Given the description of an element on the screen output the (x, y) to click on. 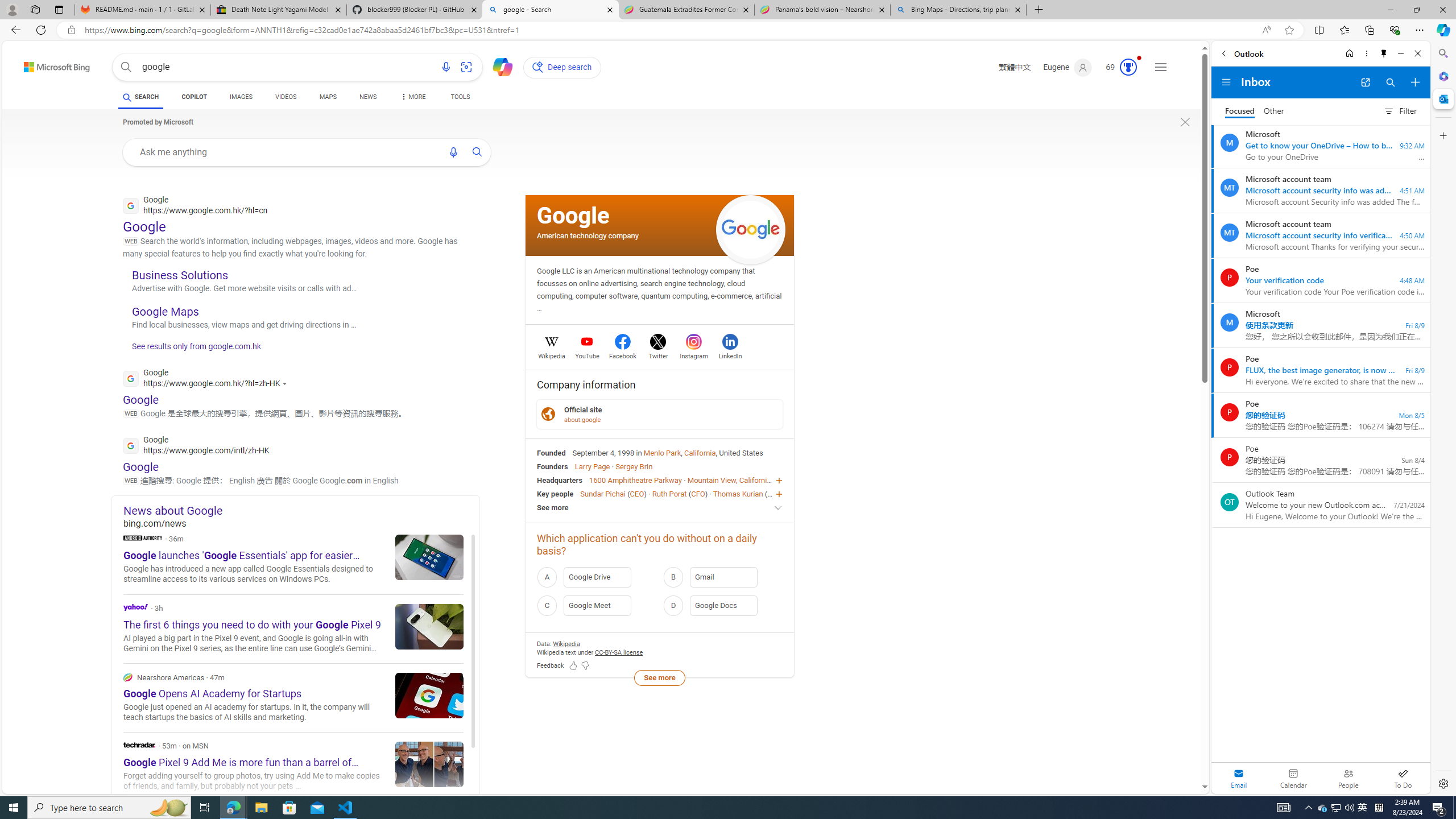
Open in new tab (1365, 82)
NEWS (367, 96)
Thomas Kurian (736, 492)
Ask me anything (285, 151)
Global web icon (130, 445)
TechRadar on MSN (293, 766)
COPILOT (193, 96)
Sundar Pichai (602, 492)
Sergey Brin (633, 465)
